Given the description of an element on the screen output the (x, y) to click on. 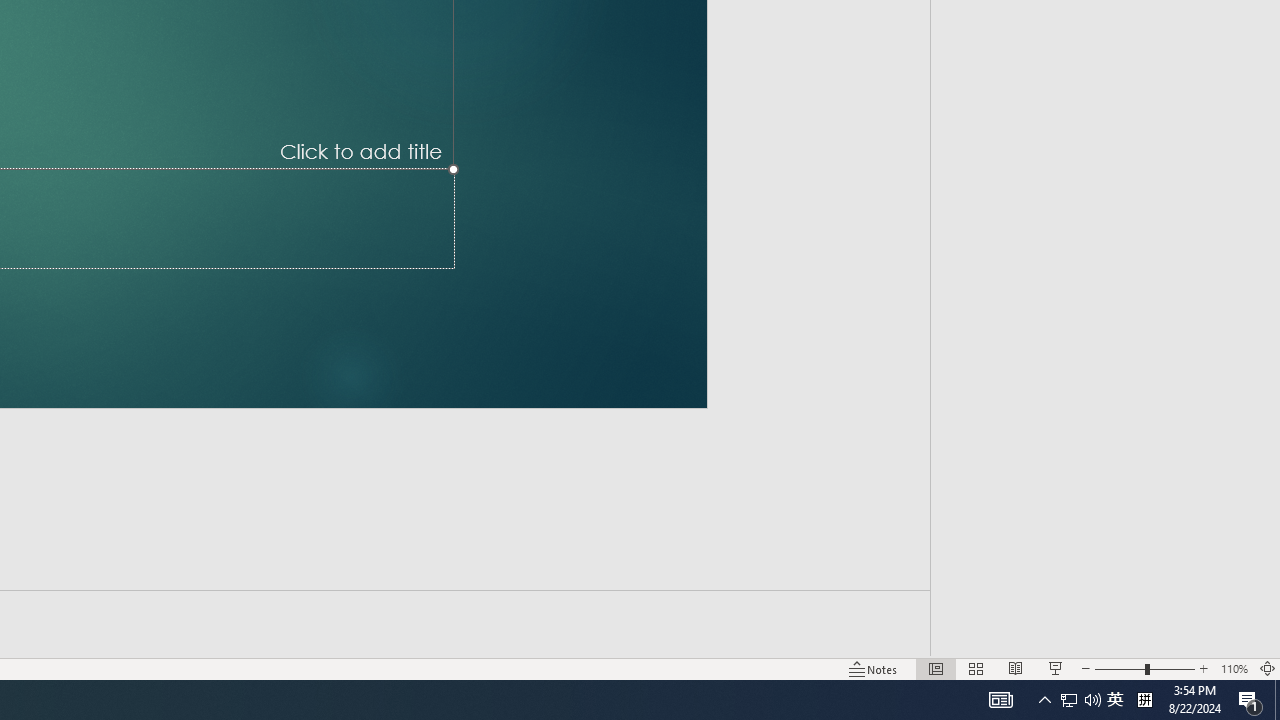
Zoom 110% (1234, 668)
